Given the description of an element on the screen output the (x, y) to click on. 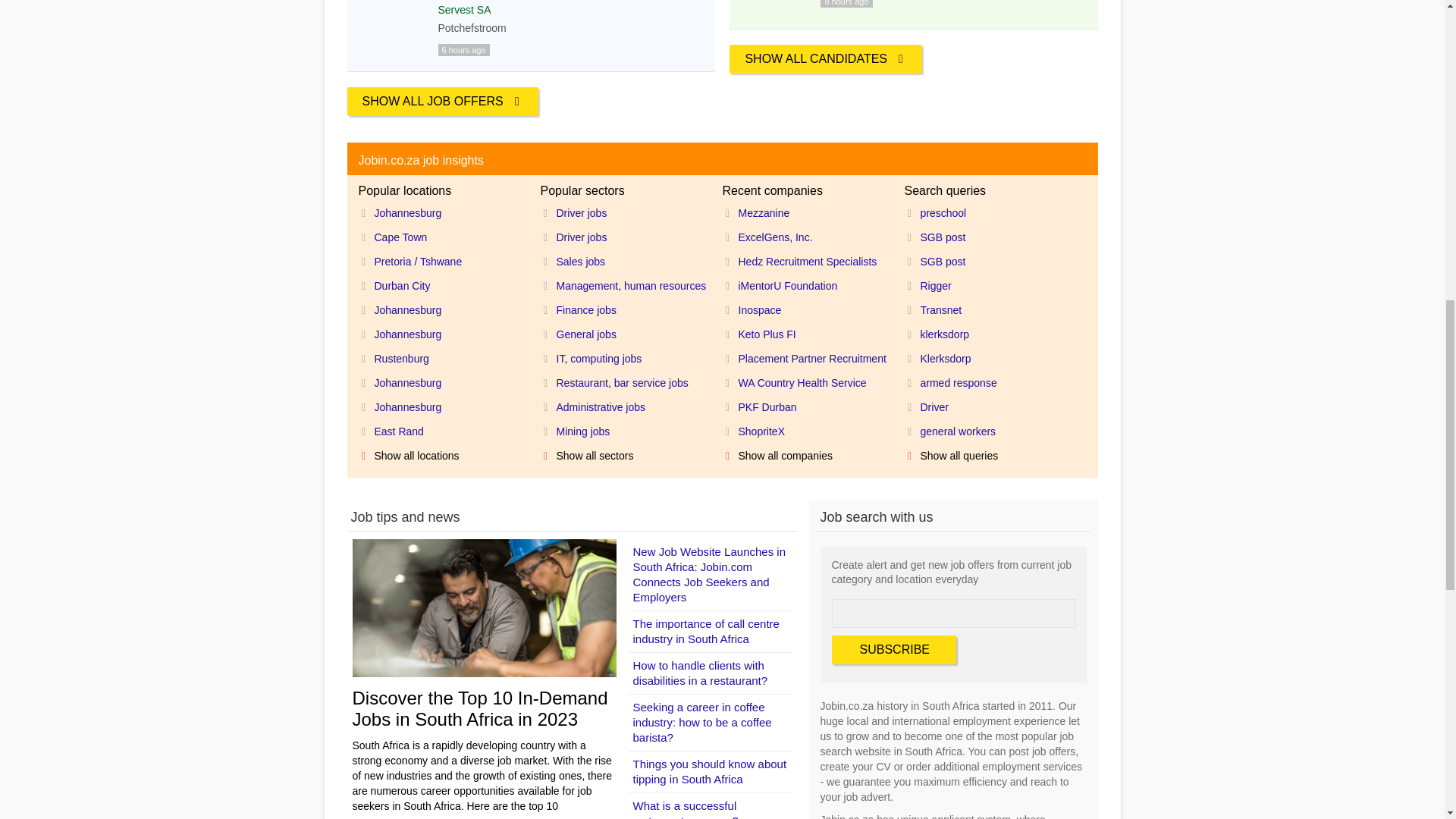
Subscribe (893, 649)
Cape Town (395, 236)
Johannesburg (403, 211)
Durban City (398, 284)
SHOW ALL CANDIDATES (825, 59)
SHOW ALL JOB OFFERS (442, 101)
Johannesburg (403, 309)
